Given the description of an element on the screen output the (x, y) to click on. 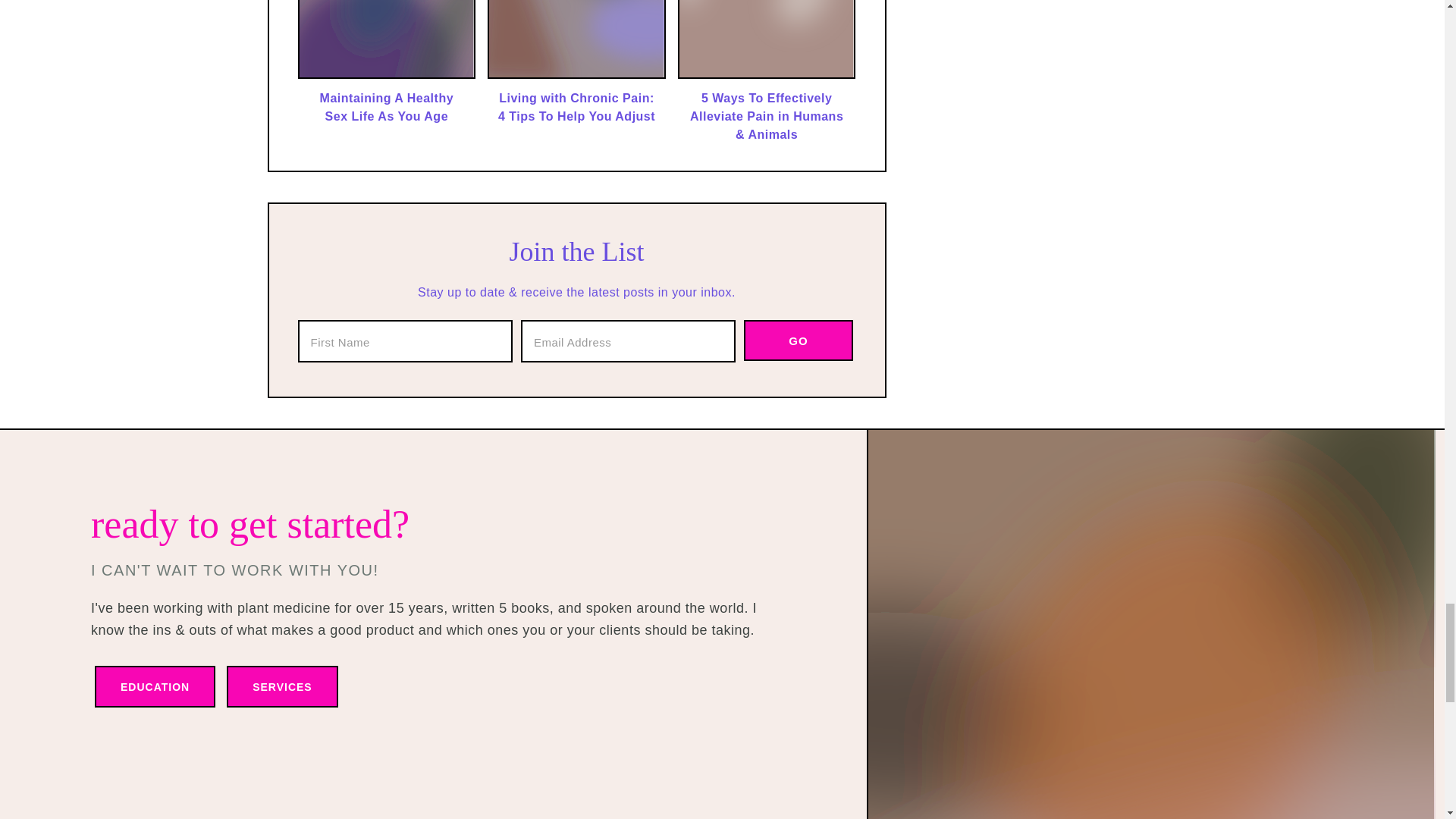
Permanent Link to Maintaining A Healthy Sex Life As You Age (386, 107)
Permanent Link to Maintaining A Healthy Sex Life As You Age (386, 74)
Go (798, 340)
